Given the description of an element on the screen output the (x, y) to click on. 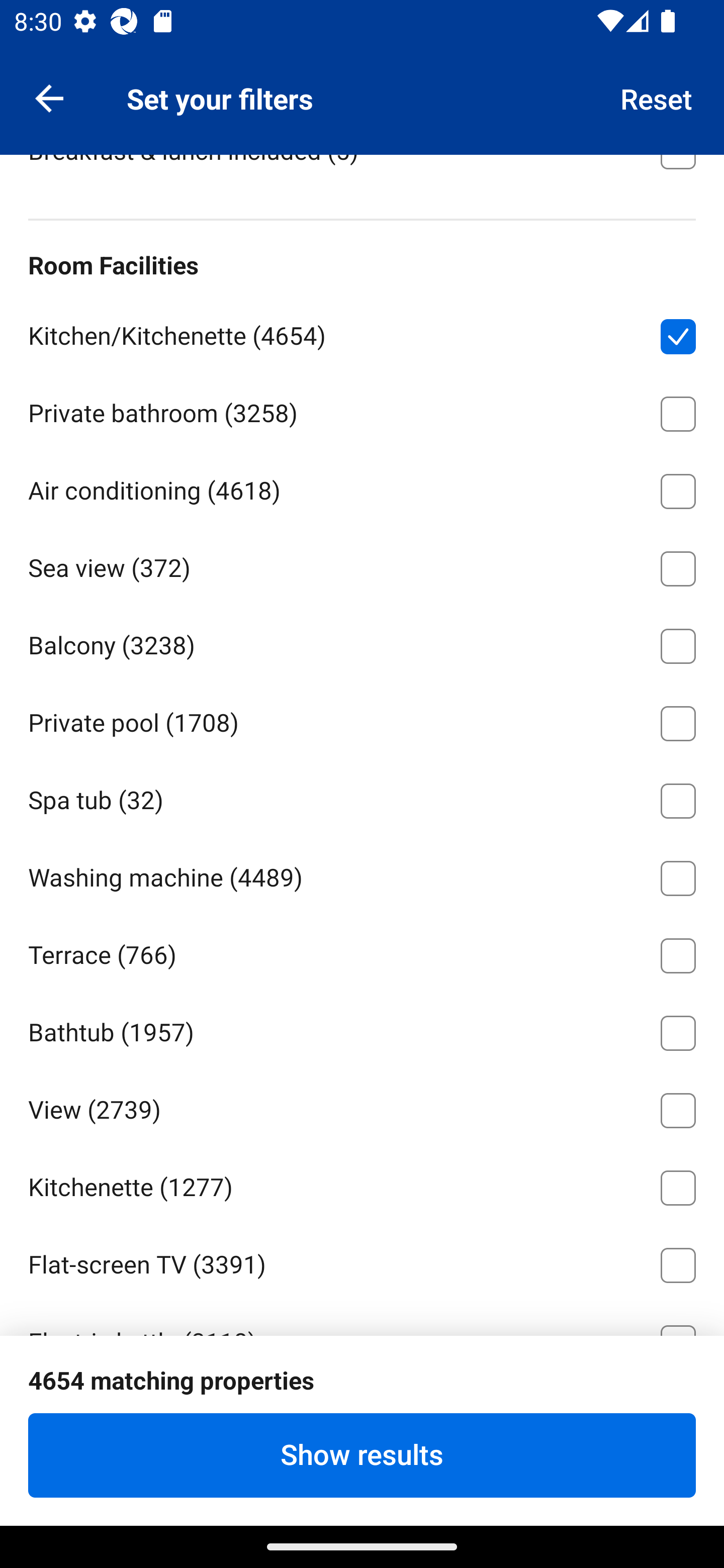
Navigate up (49, 97)
Reset (656, 97)
Kitchen/Kitchenette ⁦(4654) (361, 332)
Private bathroom ⁦(3258) (361, 410)
Air conditioning ⁦(4618) (361, 488)
Sea view ⁦(372) (361, 564)
Balcony ⁦(3238) (361, 642)
Private pool ⁦(1708) (361, 720)
Spa tub ⁦(32) (361, 796)
Washing machine ⁦(4489) (361, 874)
Terrace ⁦(766) (361, 952)
Bathtub ⁦(1957) (361, 1028)
View ⁦(2739) (361, 1106)
Kitchenette ⁦(1277) (361, 1184)
Flat-screen TV ⁦(3391) (361, 1261)
Show results (361, 1454)
